Given the description of an element on the screen output the (x, y) to click on. 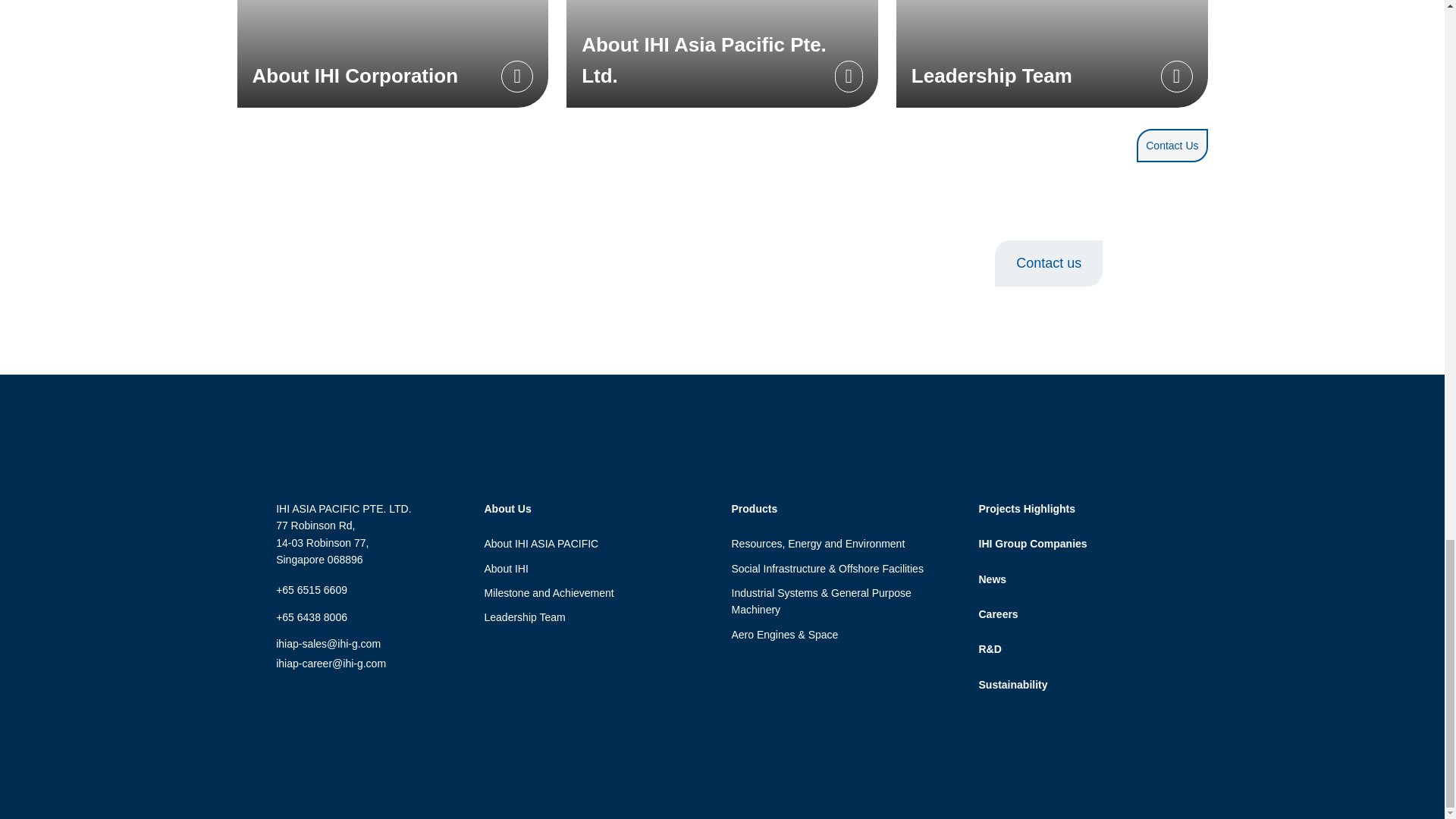
About IHI Asia Pacific Pte. Ltd. (721, 53)
About IHI ASIA PACIFIC (540, 543)
About IHI Corporation (391, 53)
Resources, Energy and Environment (817, 543)
Leadership Team (523, 616)
Milestone and Achievement (547, 592)
Contact us (1048, 263)
Leadership Team (1052, 53)
About IHI (505, 568)
